Given the description of an element on the screen output the (x, y) to click on. 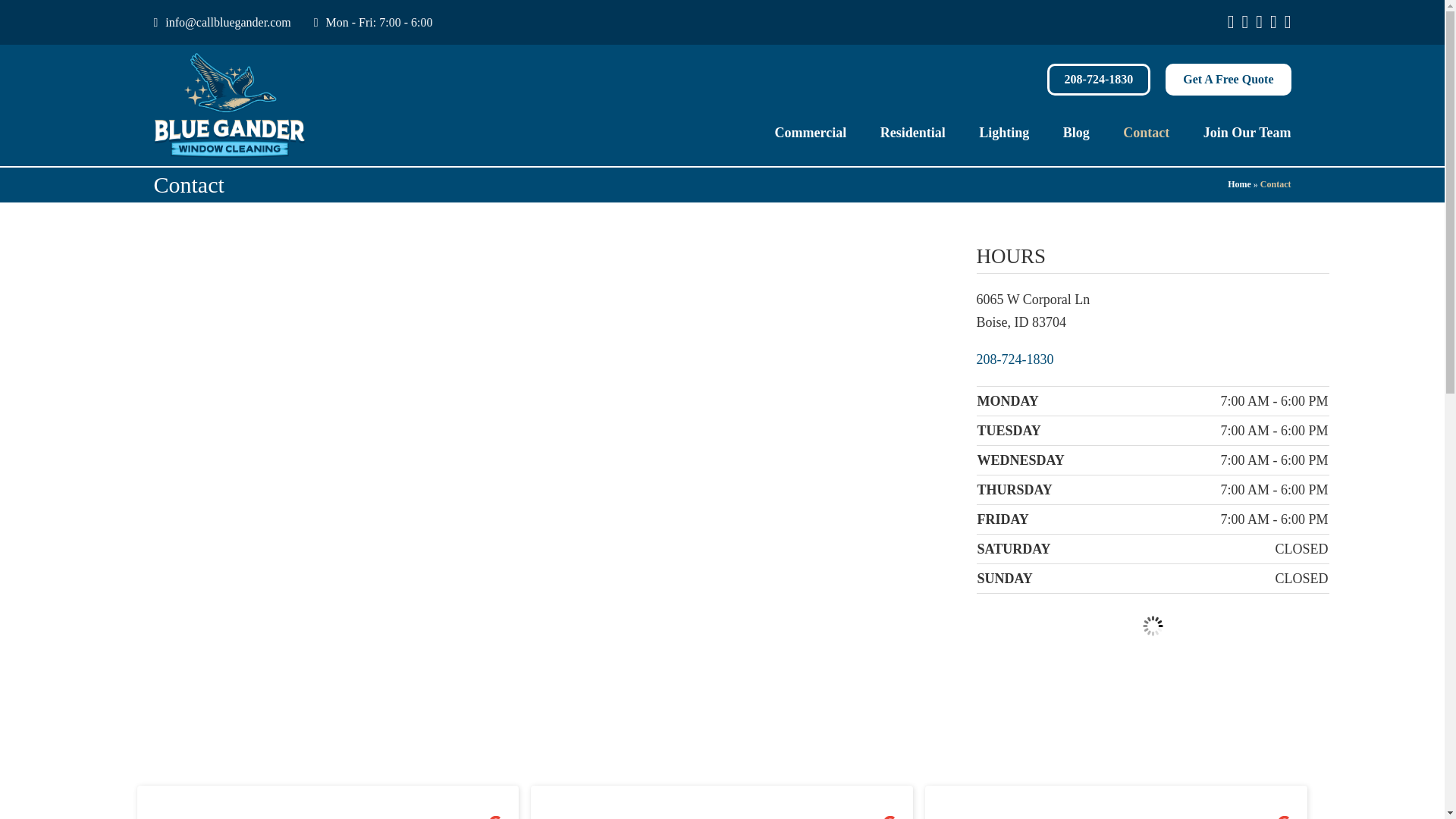
Residential (912, 132)
Mon - Fri: 7:00 - 6:00 (373, 21)
Lighting (1003, 132)
Blog (1076, 132)
Join Our Team (1247, 132)
Home (1238, 184)
Commercial (810, 132)
Contact (1146, 132)
Get A Free Quote (1228, 79)
208-724-1830 (1015, 359)
208-724-1830 (1098, 79)
